Given the description of an element on the screen output the (x, y) to click on. 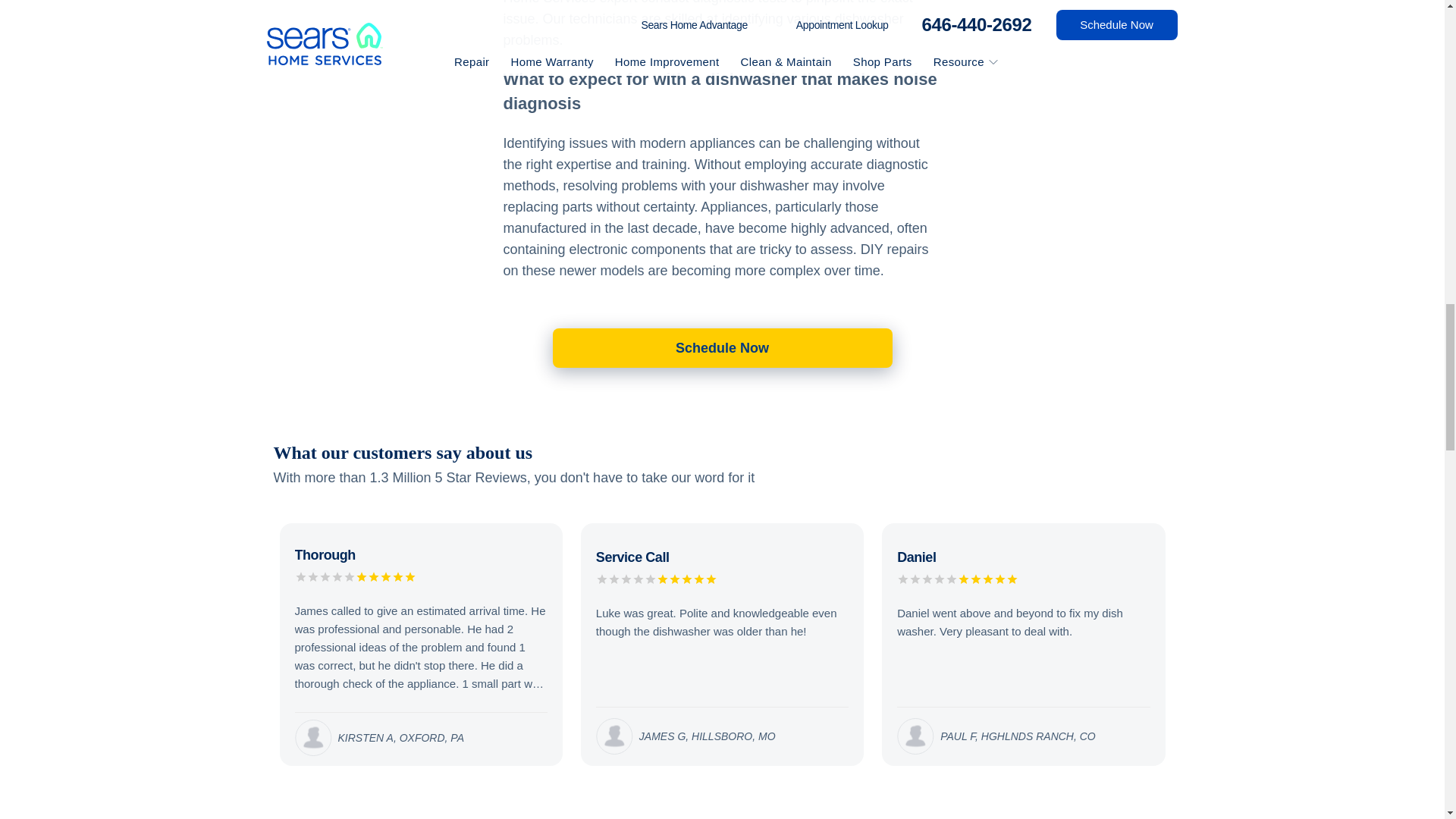
0.25 out of 5 (384, 578)
0.25 out of 5 (686, 581)
0.25 out of 5 (987, 581)
Schedule Now (721, 347)
